Given the description of an element on the screen output the (x, y) to click on. 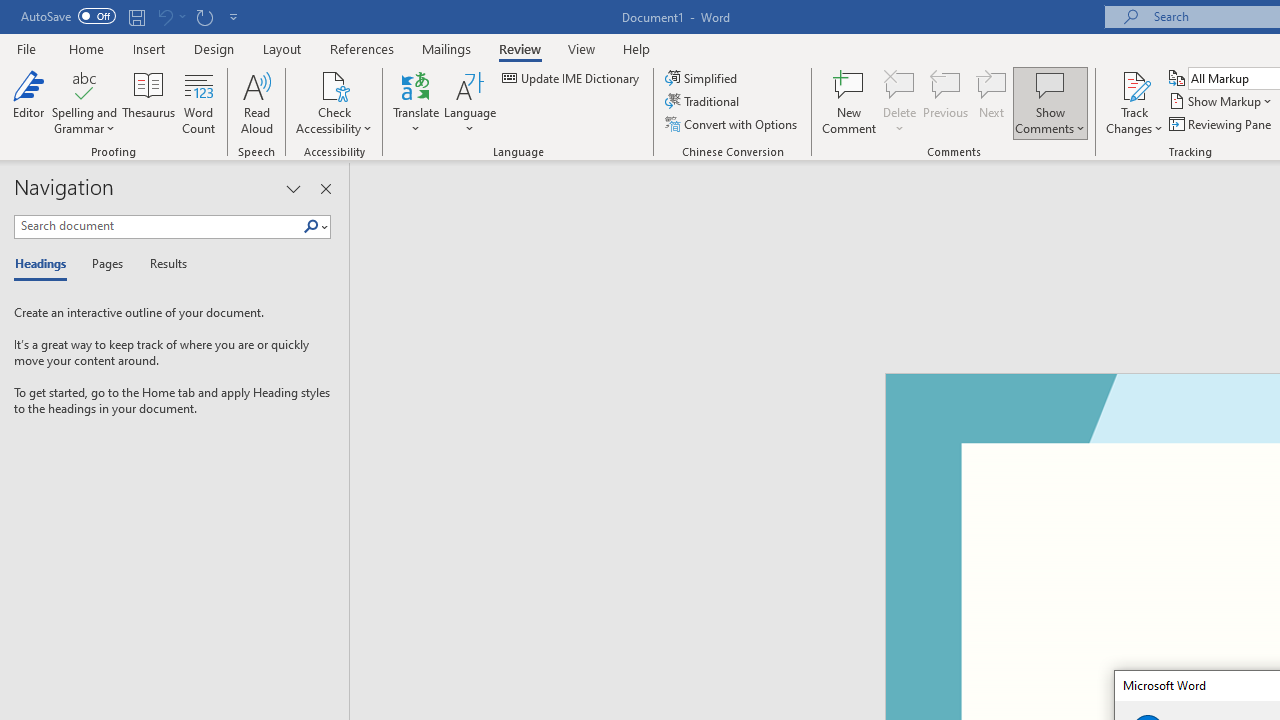
New Comment (849, 102)
Check Accessibility (334, 102)
Simplified (702, 78)
Traditional (703, 101)
References (362, 48)
Reviewing Pane (1221, 124)
Results (161, 264)
Layout (282, 48)
Spelling and Grammar (84, 84)
